Given the description of an element on the screen output the (x, y) to click on. 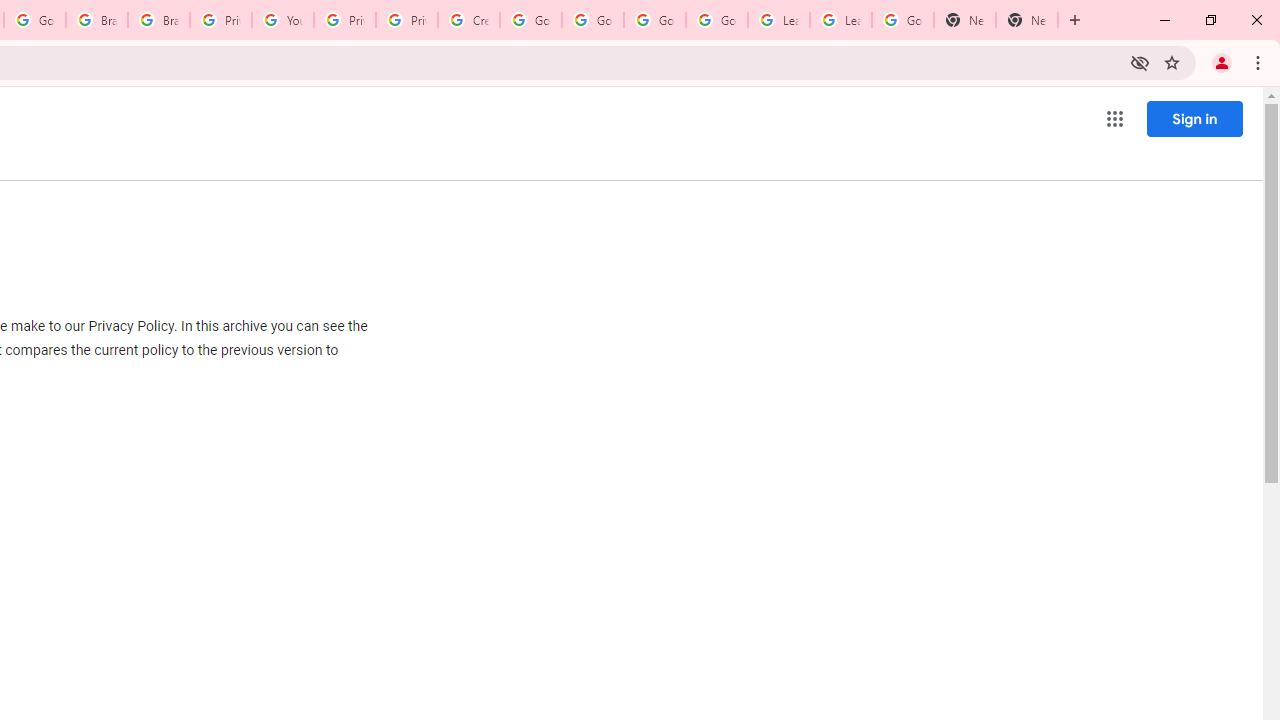
New Tab (1026, 20)
New Tab (964, 20)
Google Account Help (530, 20)
Create your Google Account (468, 20)
Google Account Help (592, 20)
YouTube (282, 20)
Google Account (902, 20)
Brand Resource Center (96, 20)
